Given the description of an element on the screen output the (x, y) to click on. 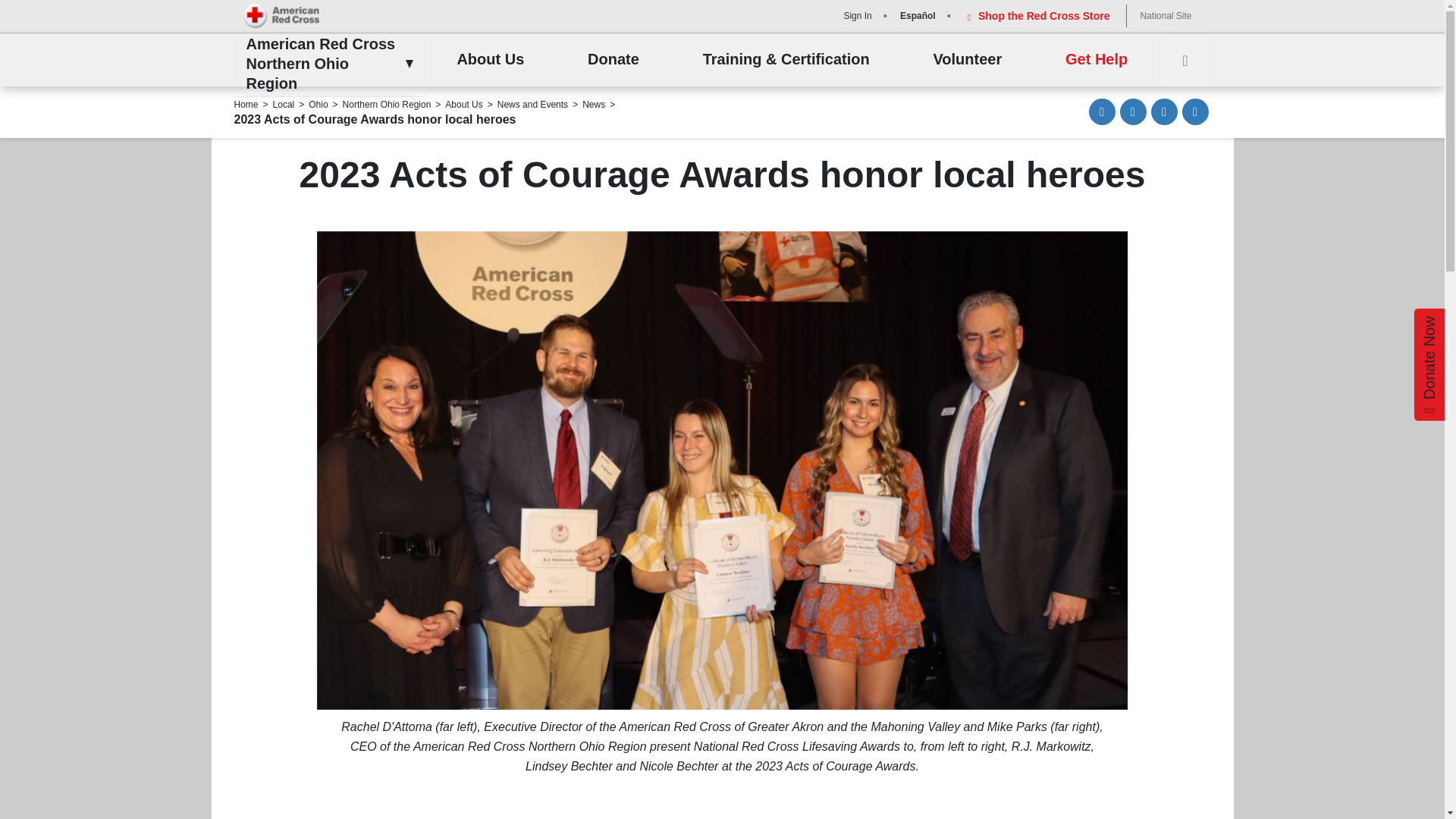
National Site (1164, 15)
Tweet (1164, 111)
Sign In (855, 15)
Share on Facebook (1132, 111)
About Us (490, 59)
Shop the Red Cross Store (1035, 15)
American Red Cross Northern Ohio Region (325, 63)
Other share options (1194, 111)
Donate (613, 59)
Share via Email (1102, 111)
